Given the description of an element on the screen output the (x, y) to click on. 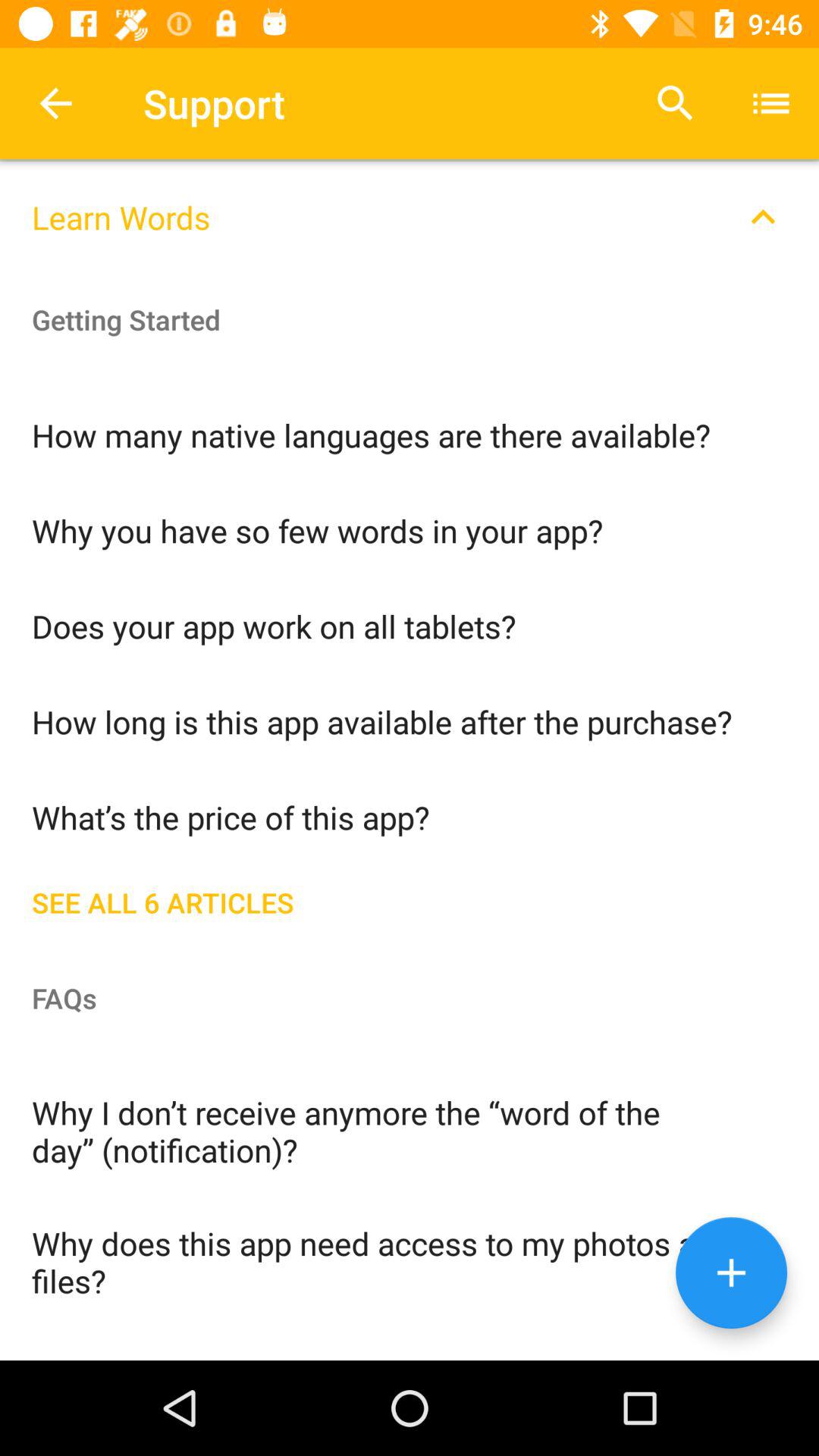
swipe to see all 6 item (409, 899)
